Given the description of an element on the screen output the (x, y) to click on. 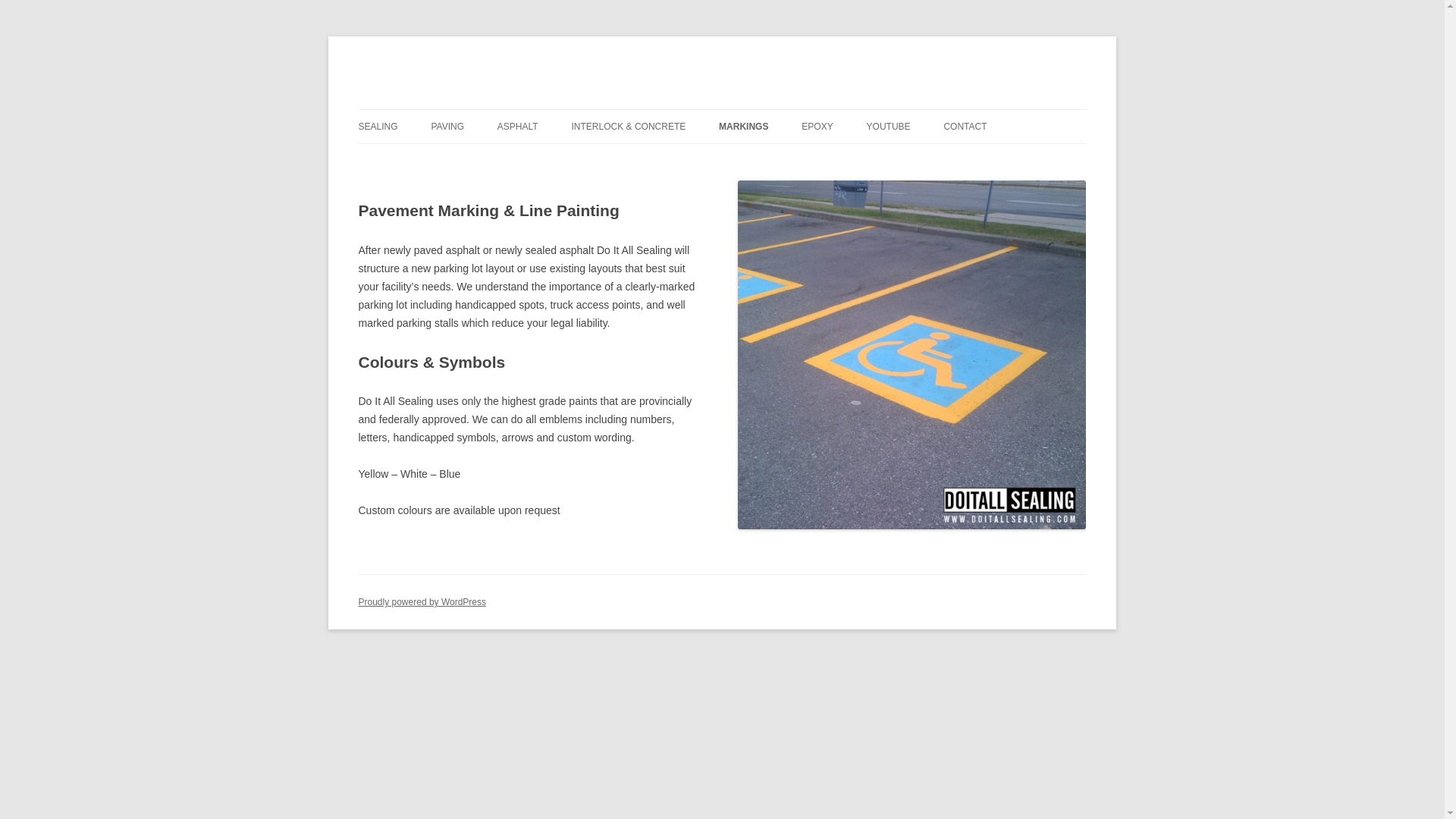
SEALING (377, 126)
YOUTUBE (888, 126)
PAVING (447, 126)
EPOXY (817, 126)
ASPHALT (517, 126)
MARKINGS (743, 126)
CONTACT (965, 126)
